Given the description of an element on the screen output the (x, y) to click on. 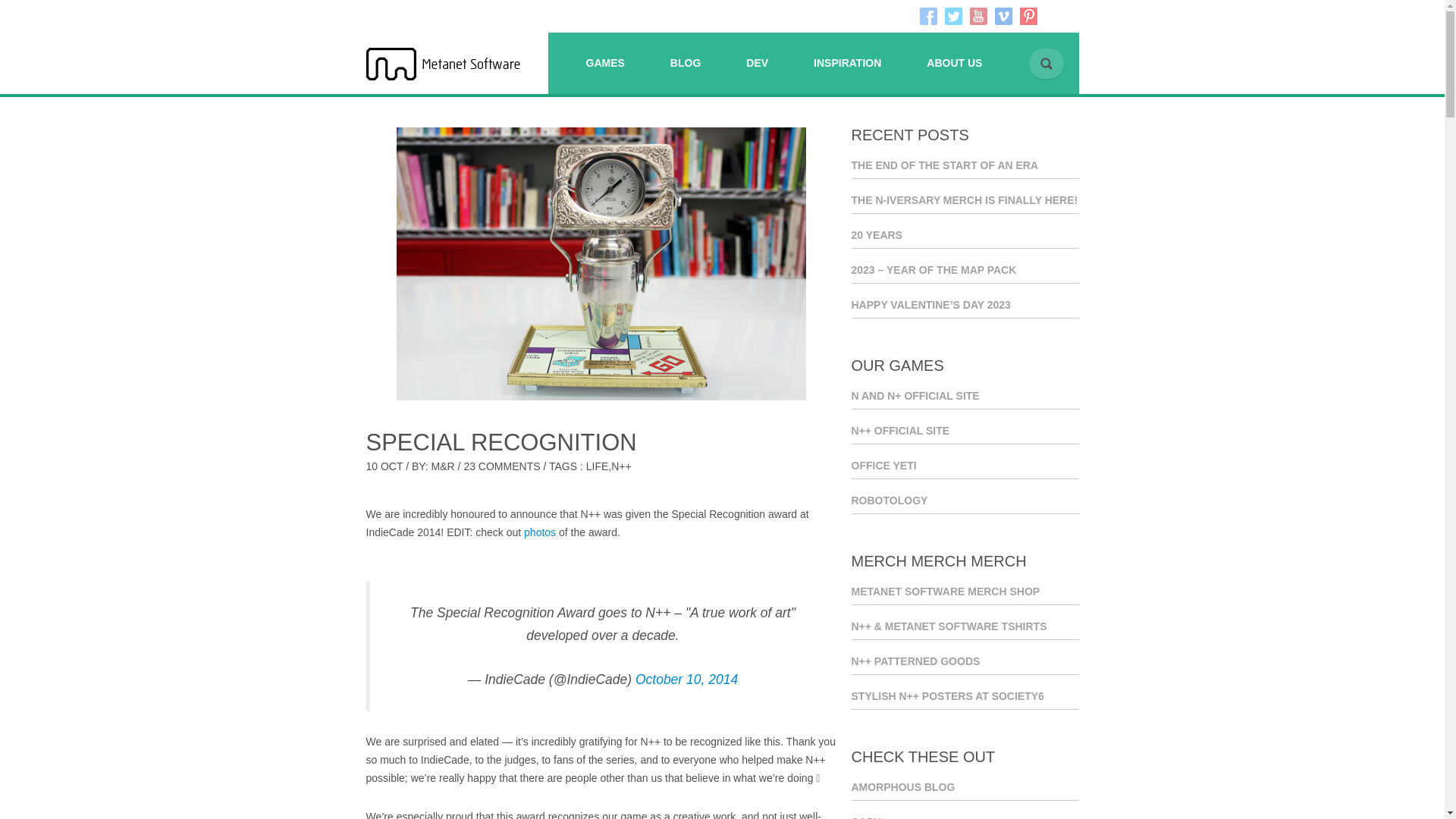
Capy Games (964, 816)
GAMES (604, 64)
THE N-IVERSARY MERCH IS FINALLY HERE! (964, 202)
LIFE (597, 466)
Beautiful minimalist wall art (964, 699)
What would happen if HR accidentally hired a yeti? (964, 468)
INSPIRATION (847, 64)
October 10, 2014 (686, 679)
photos (540, 532)
SPECIAL RECOGNITION (500, 442)
